Given the description of an element on the screen output the (x, y) to click on. 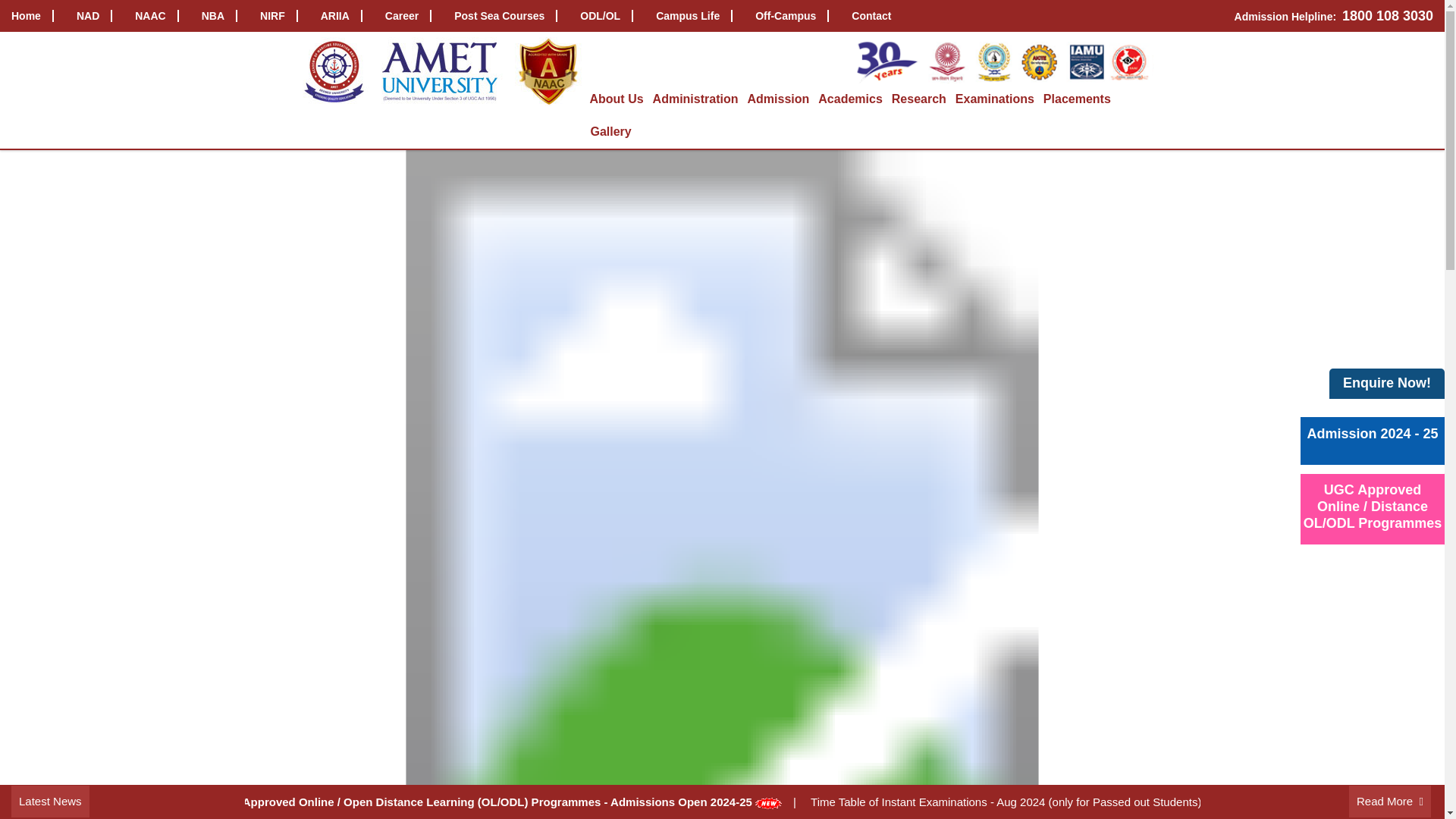
Off-Campus (792, 17)
Skip to main content (10, 4)
NAAC (156, 17)
NAD (94, 17)
About Us (615, 99)
ARIIA (341, 17)
Campus Life (694, 17)
Career (408, 17)
NIRF (278, 17)
Administration (695, 99)
